Given the description of an element on the screen output the (x, y) to click on. 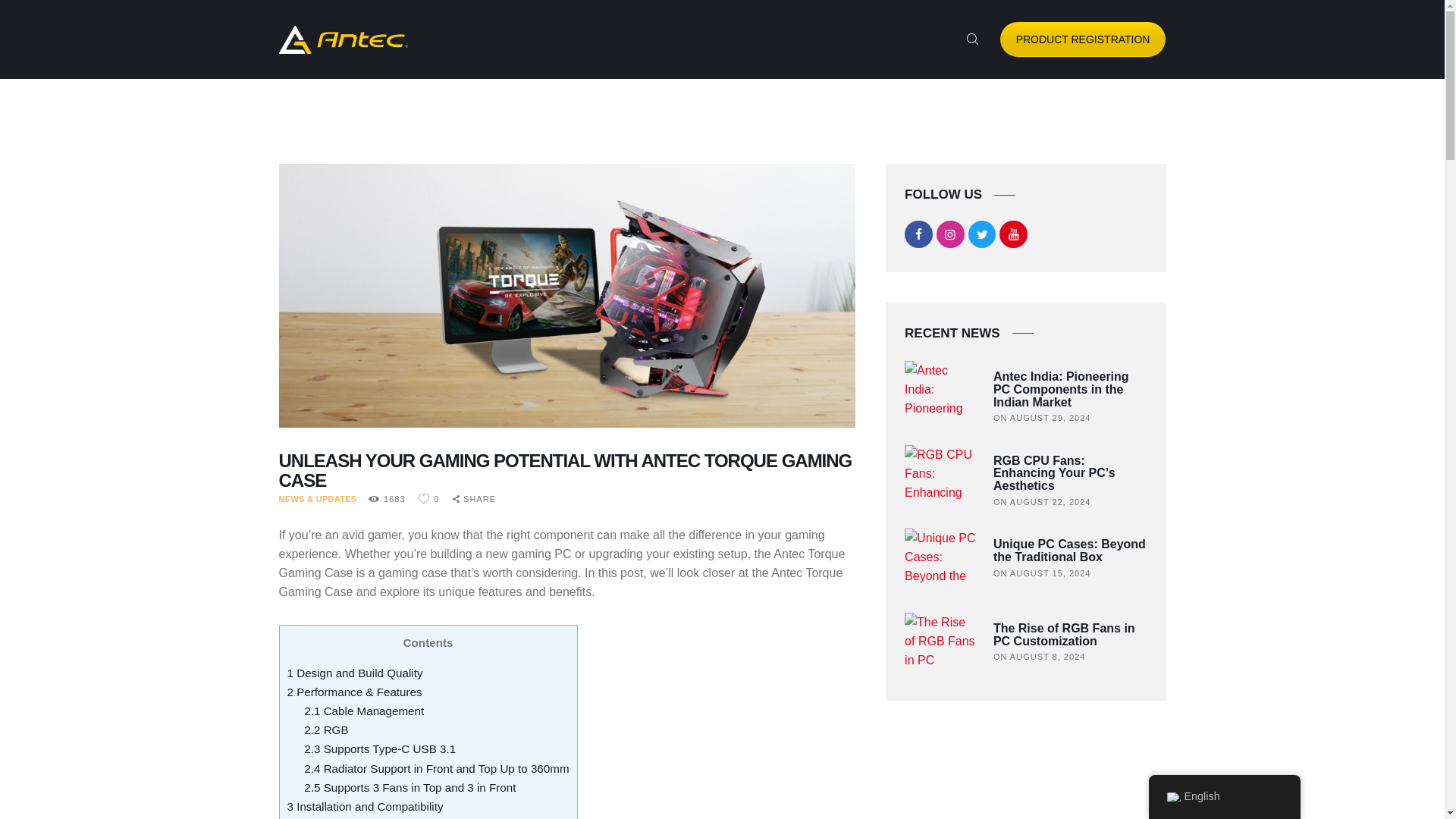
SHARE (474, 499)
Product Registration (1083, 39)
PRODUCT REGISTRATION (1083, 39)
0 (434, 498)
2.3 Supports Type-C USB 3.1 (379, 748)
English (1172, 796)
Like (434, 498)
1 Design and Build Quality (354, 672)
2.2 RGB (325, 729)
